Given the description of an element on the screen output the (x, y) to click on. 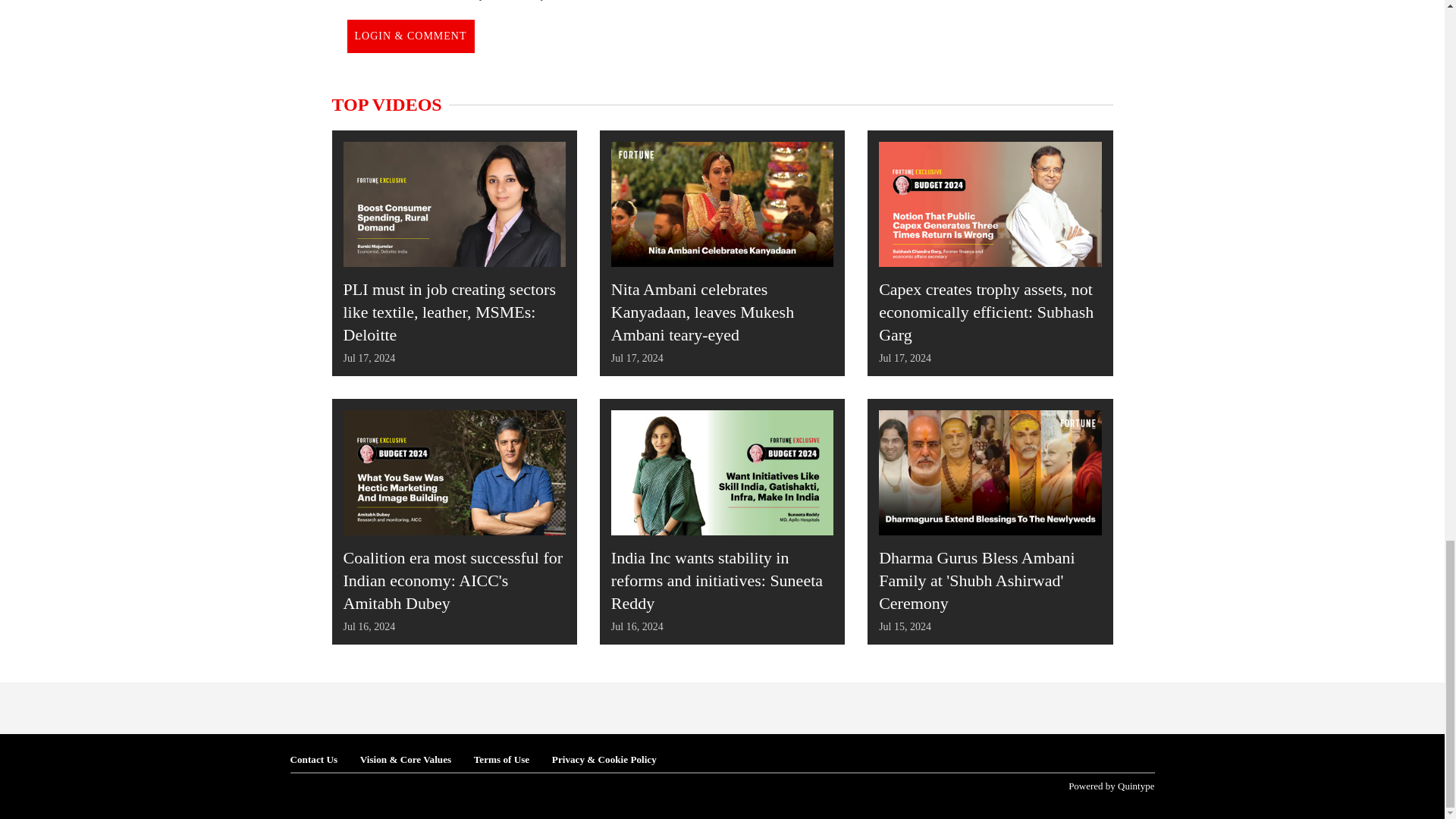
Quintype (1111, 785)
